Given the description of an element on the screen output the (x, y) to click on. 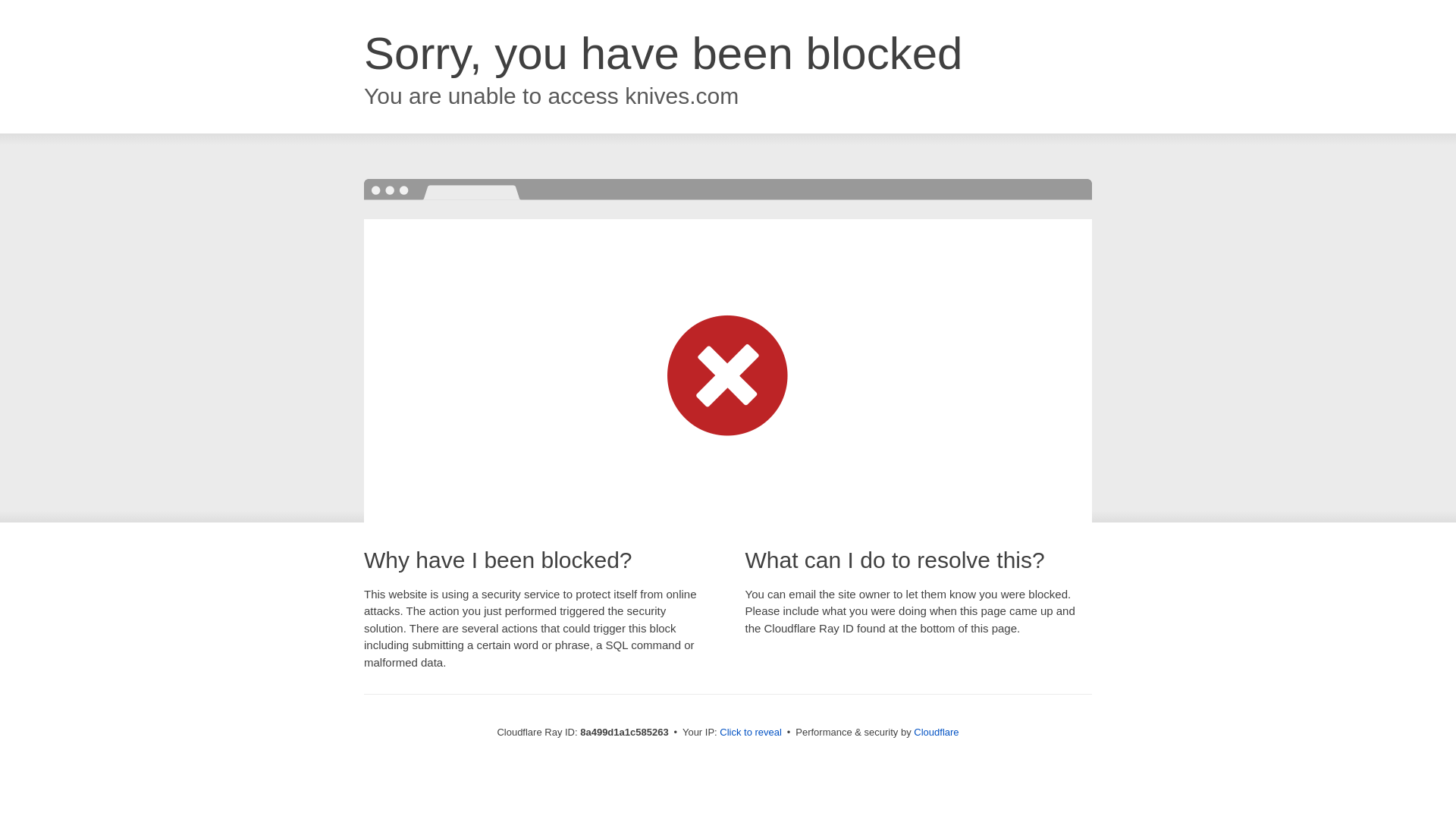
Click to reveal (750, 732)
Cloudflare (936, 731)
